Given the description of an element on the screen output the (x, y) to click on. 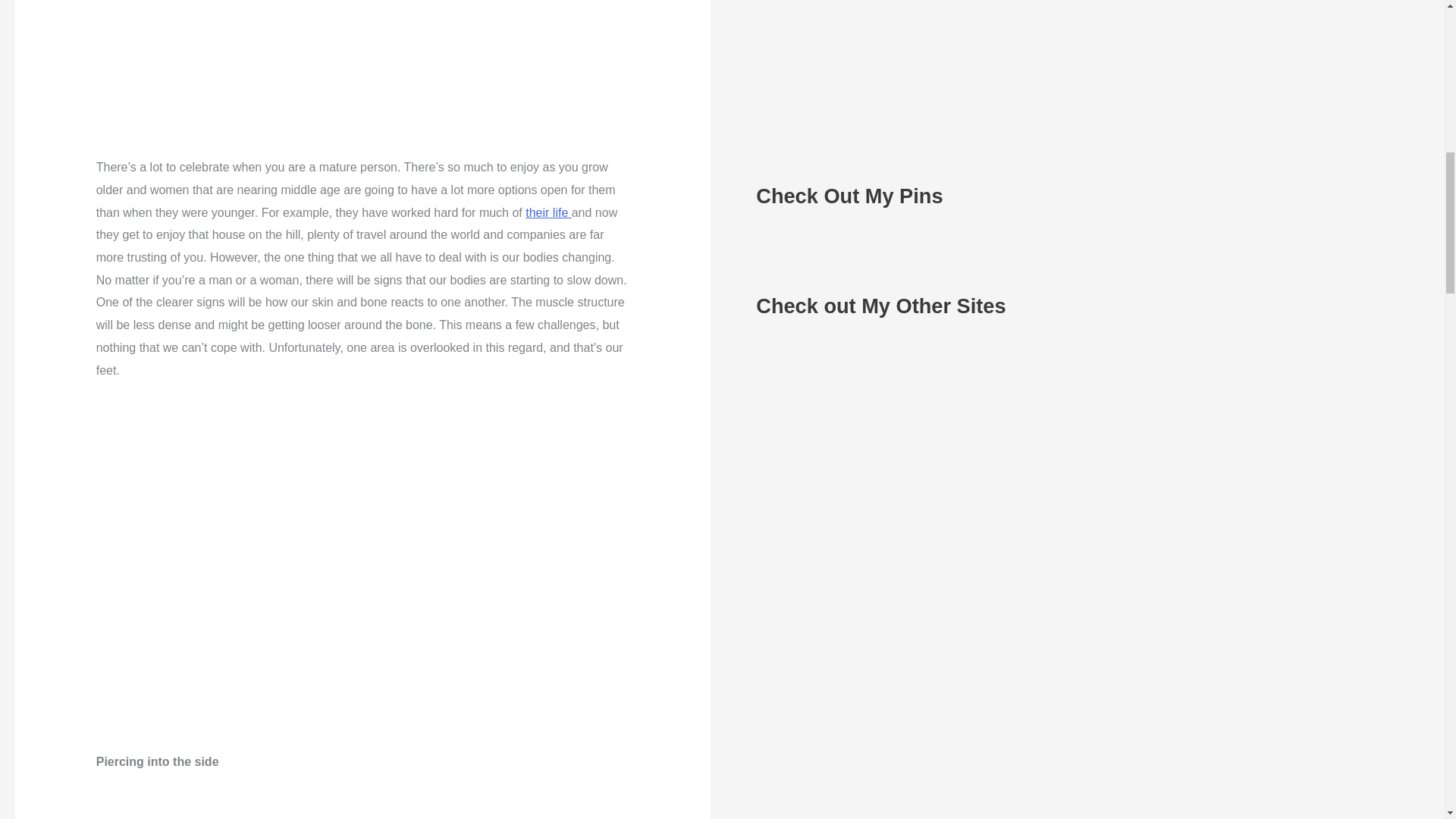
The Writer's Blog (812, 413)
